Given the description of an element on the screen output the (x, y) to click on. 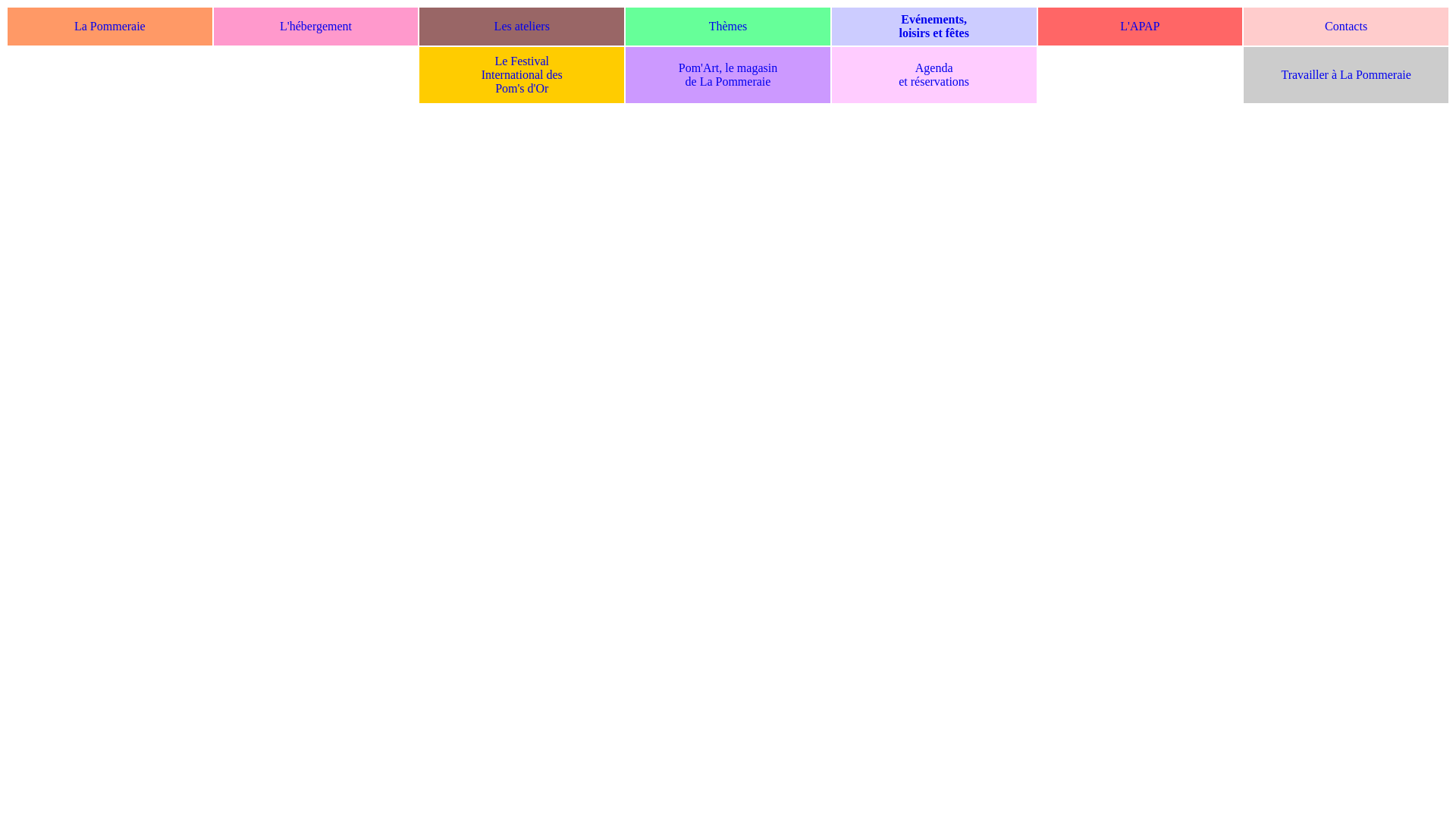
L'APAP Element type: text (1139, 25)
Pom'Art, le magasin
de La Pommeraie Element type: text (727, 74)
Contacts Element type: text (1345, 25)
La Pommeraie Element type: text (109, 25)
Le Festival
International des
Pom's d'Or Element type: text (521, 74)
Les ateliers Element type: text (521, 25)
